Given the description of an element on the screen output the (x, y) to click on. 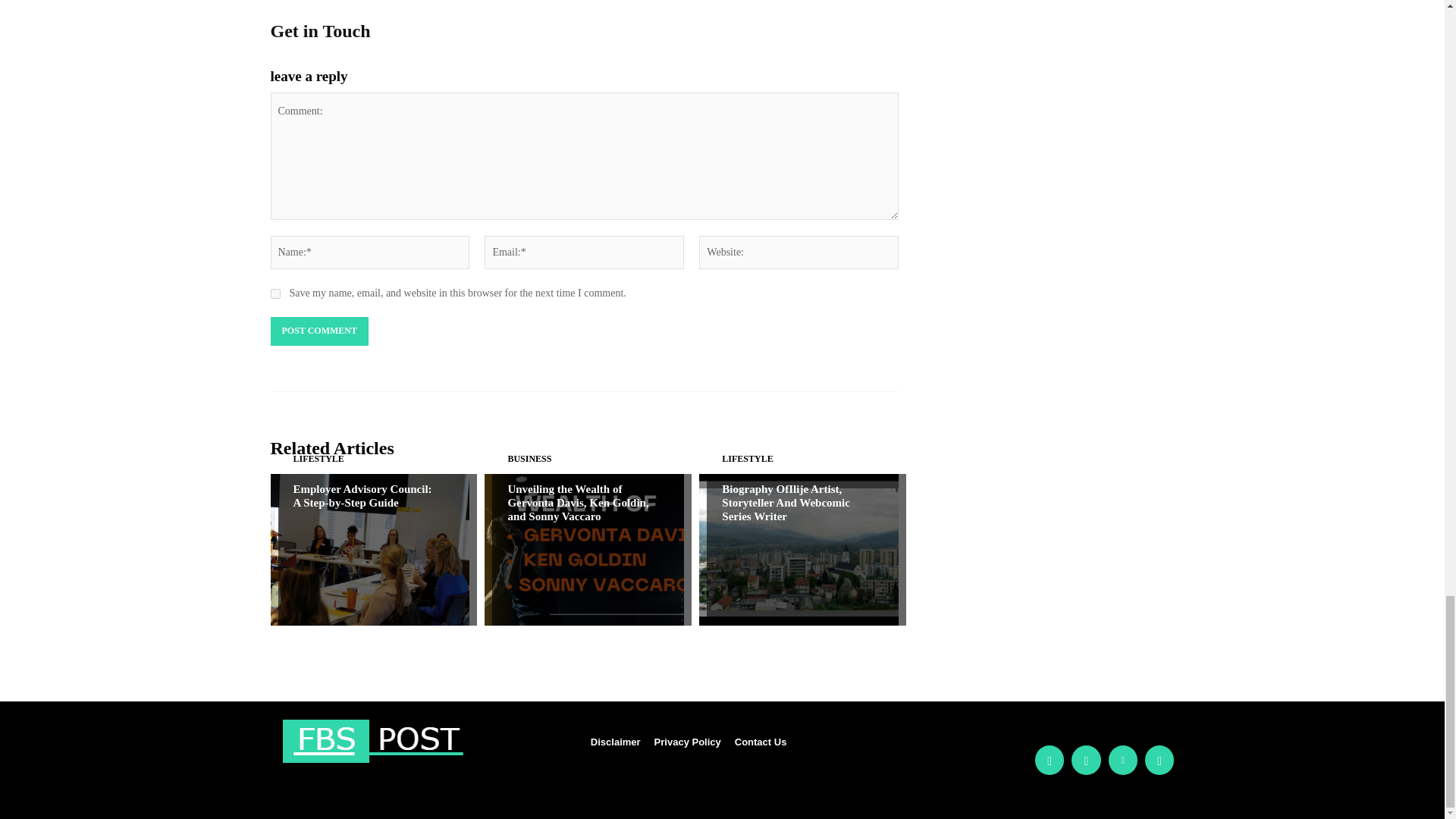
Employer Advisory Council: A Step-by-Step Guide (368, 549)
yes (274, 293)
Post Comment (318, 330)
Employer Advisory Council: A Step-by-Step Guide (361, 495)
